Given the description of an element on the screen output the (x, y) to click on. 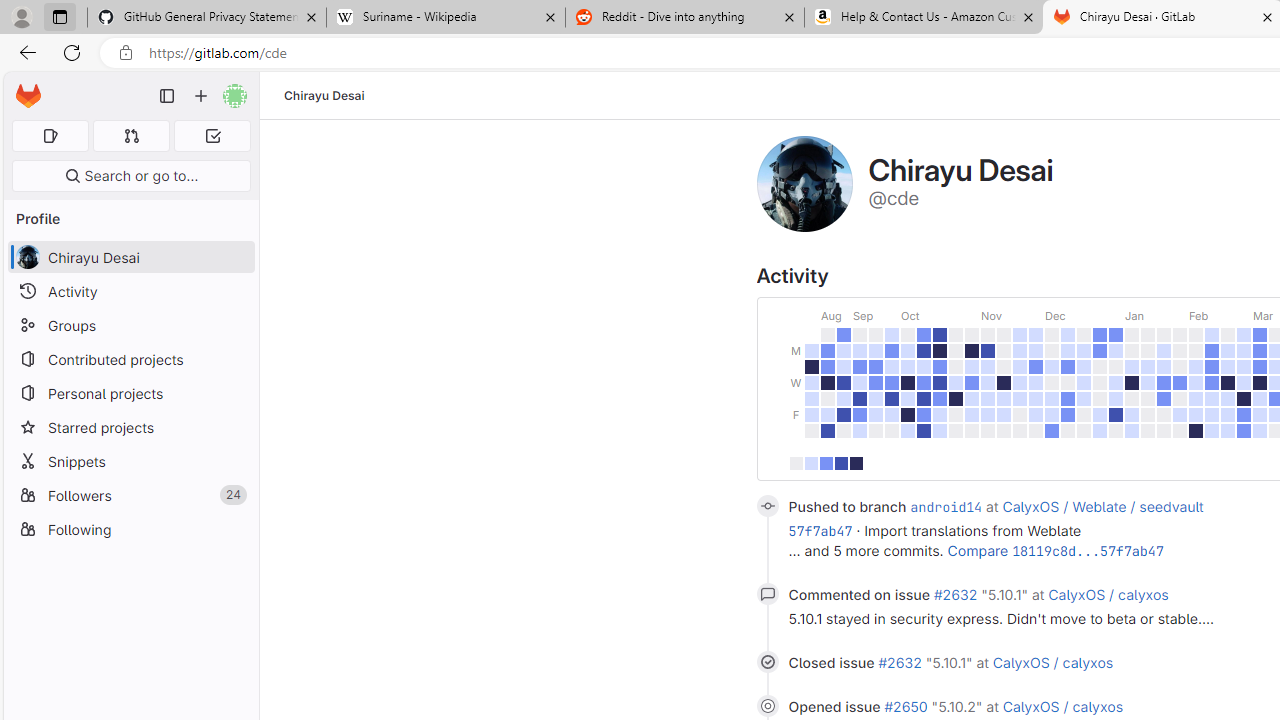
User profile picture (804, 183)
Contributed projects (130, 358)
#2632  (901, 662)
